Given the description of an element on the screen output the (x, y) to click on. 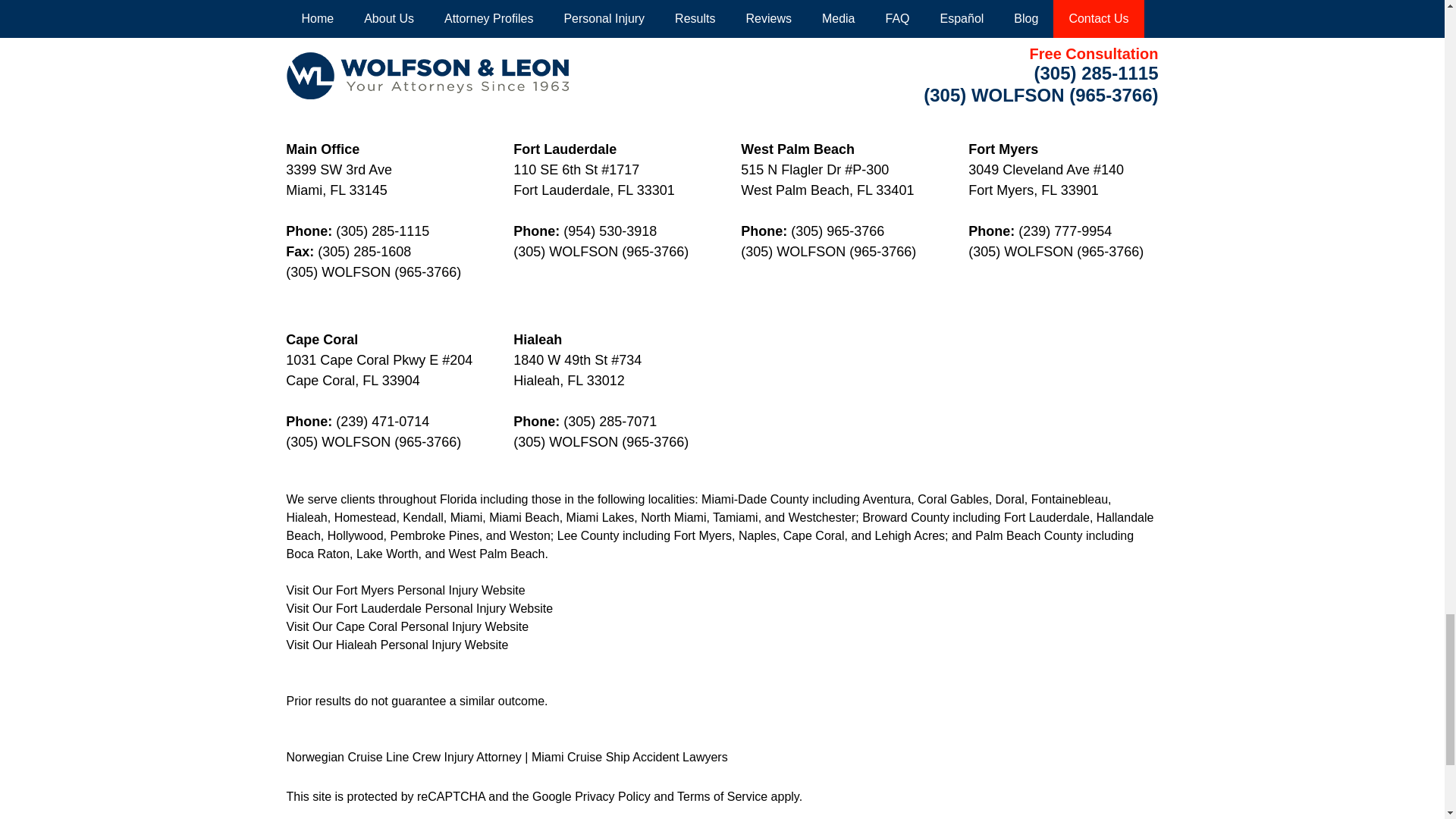
Justia (434, 48)
Facebook (304, 51)
LinkedIn (390, 48)
Yelp (304, 96)
Twitter (348, 51)
YouTube (478, 48)
AVVO (521, 48)
